Given the description of an element on the screen output the (x, y) to click on. 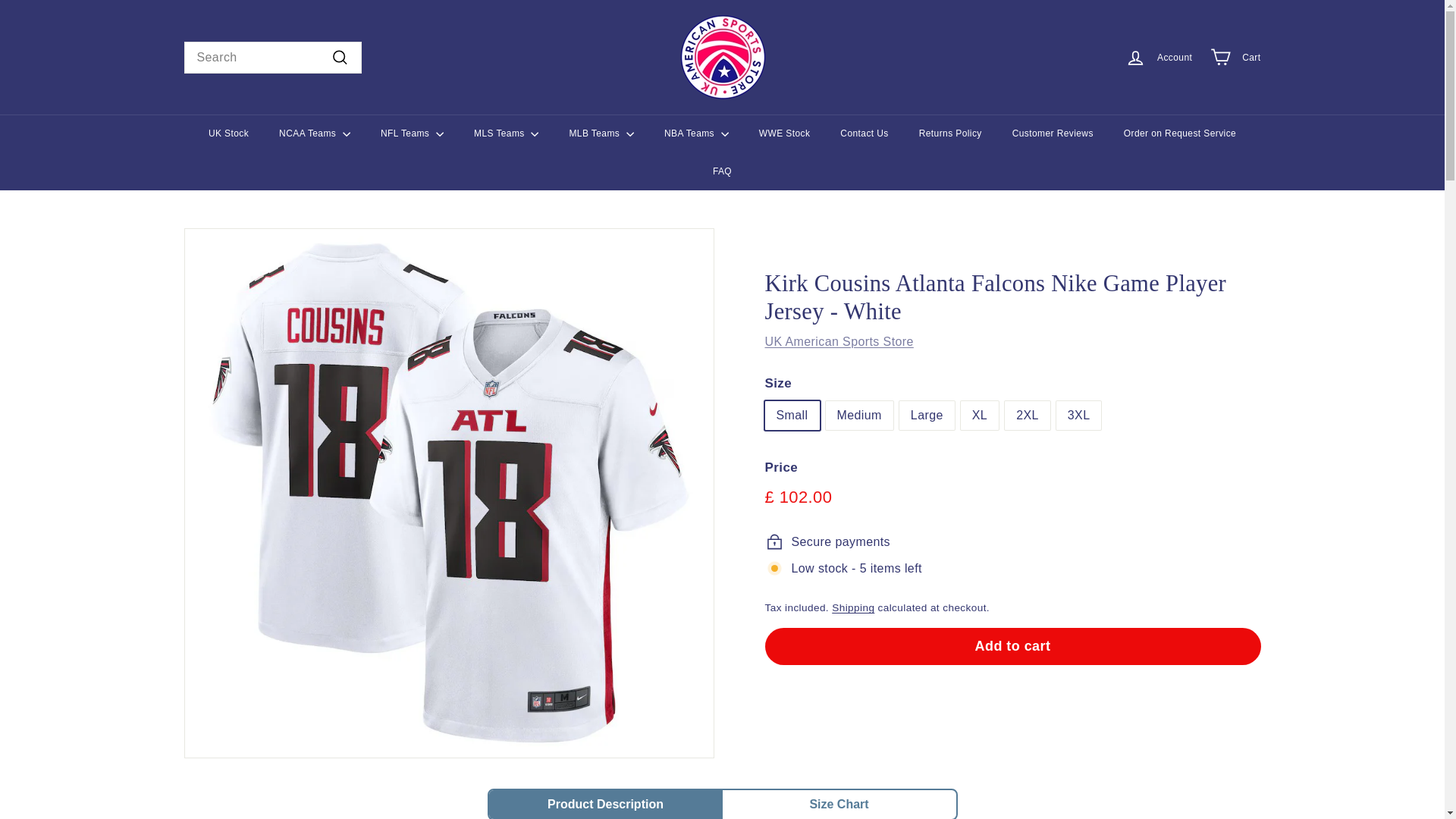
Cart (1235, 57)
Account (1158, 57)
UK Stock (228, 133)
UK American Sports Store (838, 341)
